Given the description of an element on the screen output the (x, y) to click on. 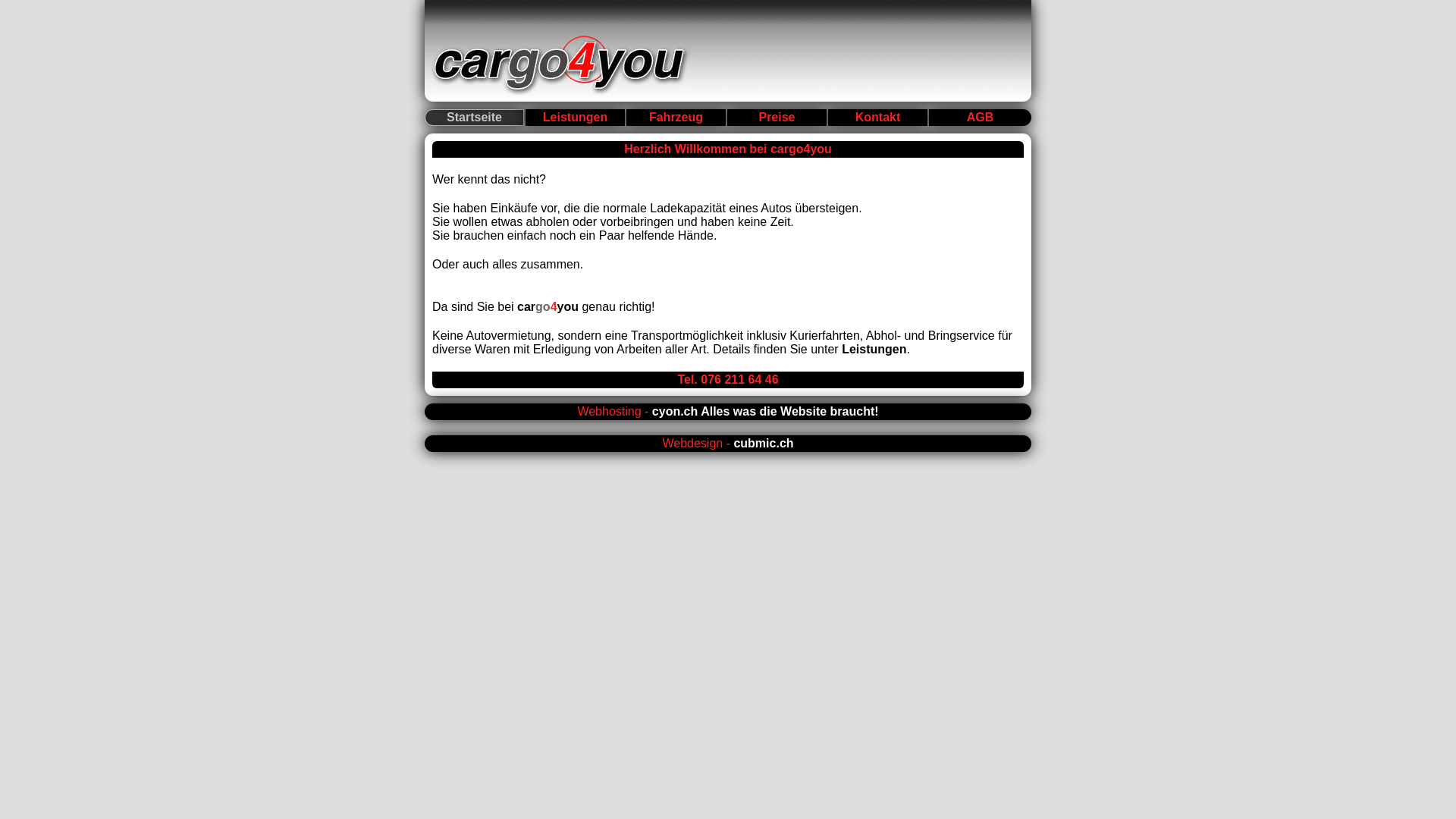
cubmic.ch Element type: text (763, 442)
Fahrzeug Element type: text (675, 117)
Preise Element type: text (776, 117)
cyon.ch Alles was die Website braucht! Element type: text (765, 410)
Startseite Element type: text (474, 117)
AGB Element type: text (979, 117)
Leistungen Element type: text (873, 348)
Kontakt Element type: text (877, 117)
Leistungen Element type: text (574, 117)
